Given the description of an element on the screen output the (x, y) to click on. 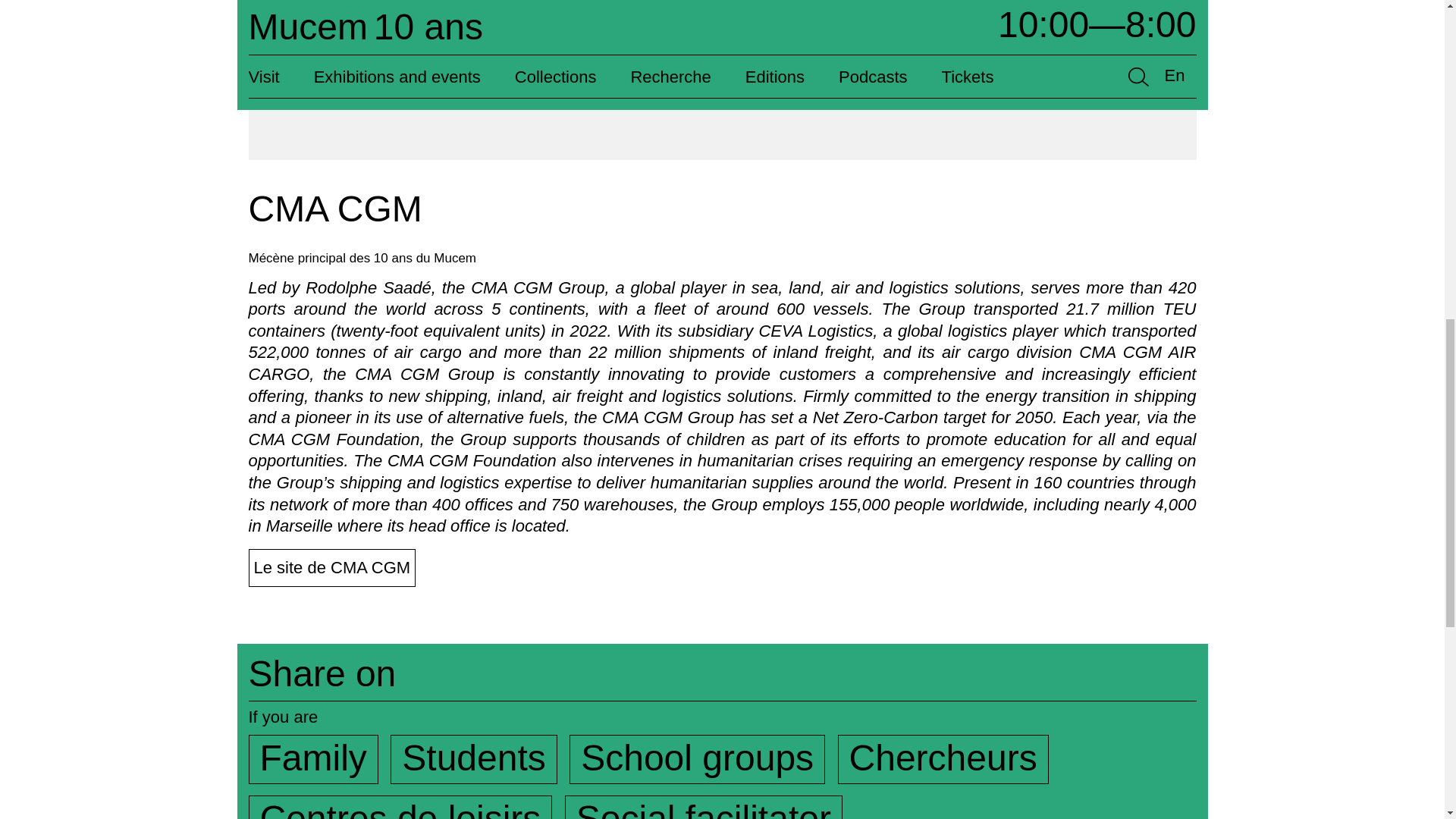
Relais du champ social (703, 807)
Famille (313, 758)
Groupe scolaire (697, 758)
